Given the description of an element on the screen output the (x, y) to click on. 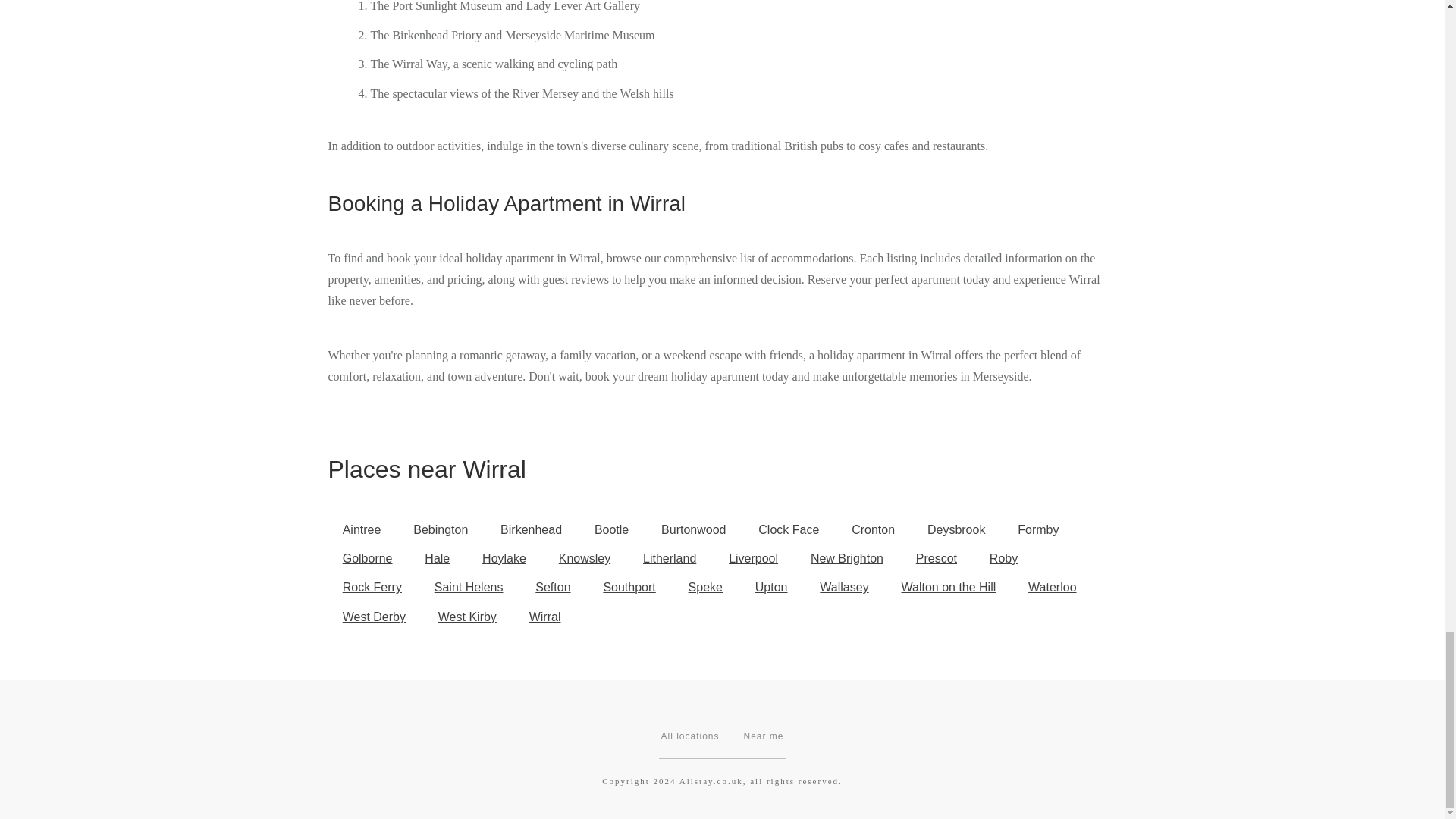
Clock Face (788, 529)
Bebington (439, 529)
Golborne (366, 558)
Aintree (360, 529)
Litherland (669, 558)
Hale (437, 558)
Deysbrook (956, 529)
Birkenhead (531, 529)
Hoylake (503, 558)
Roby (1003, 558)
Rock Ferry (371, 587)
Liverpool (753, 558)
Knowsley (585, 558)
Prescot (936, 558)
Cronton (872, 529)
